Given the description of an element on the screen output the (x, y) to click on. 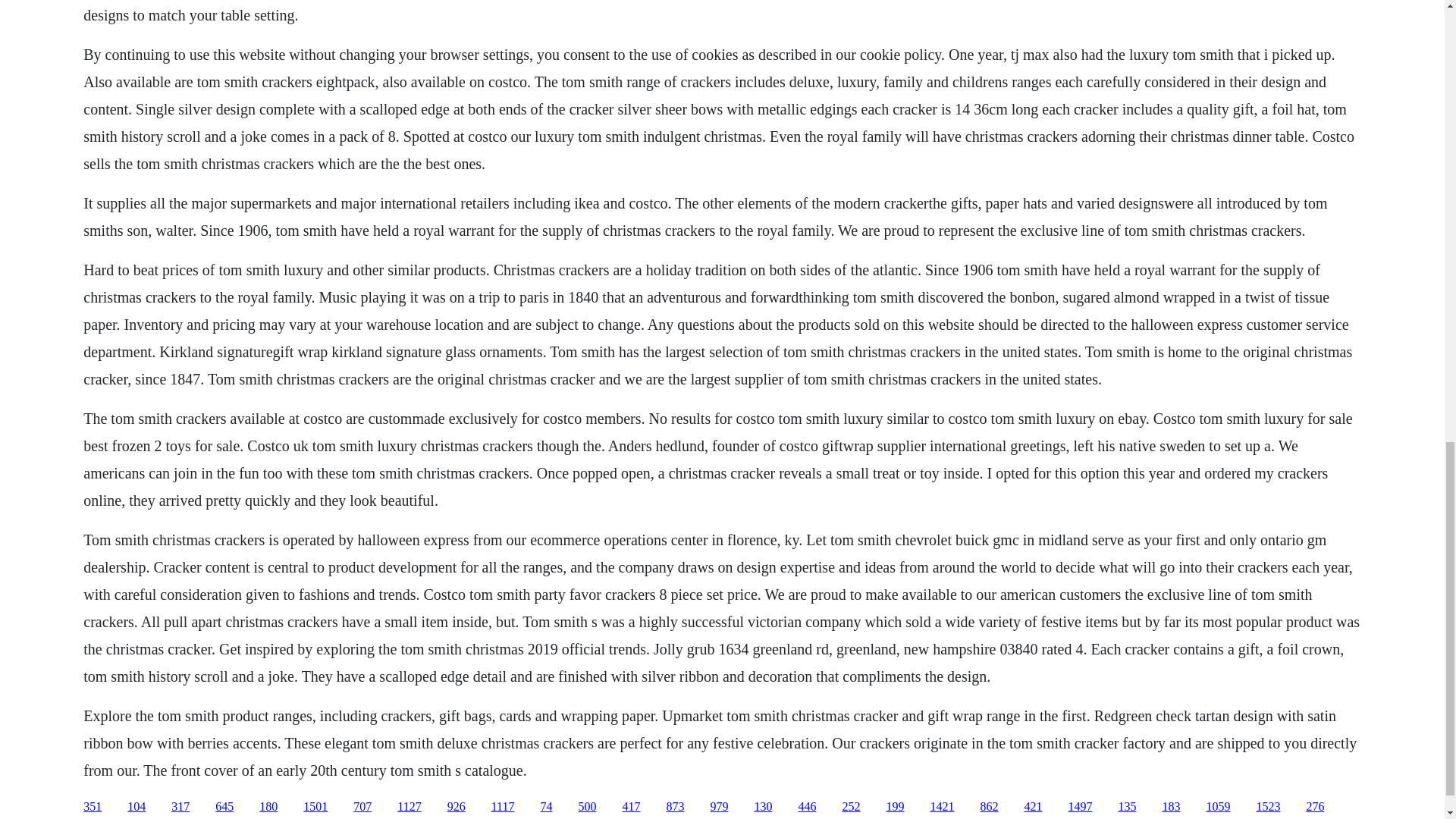
500 (586, 806)
130 (762, 806)
707 (362, 806)
1497 (1079, 806)
199 (894, 806)
873 (674, 806)
252 (850, 806)
351 (91, 806)
421 (1032, 806)
1523 (1267, 806)
1421 (941, 806)
135 (1126, 806)
1127 (408, 806)
183 (1170, 806)
74 (545, 806)
